Given the description of an element on the screen output the (x, y) to click on. 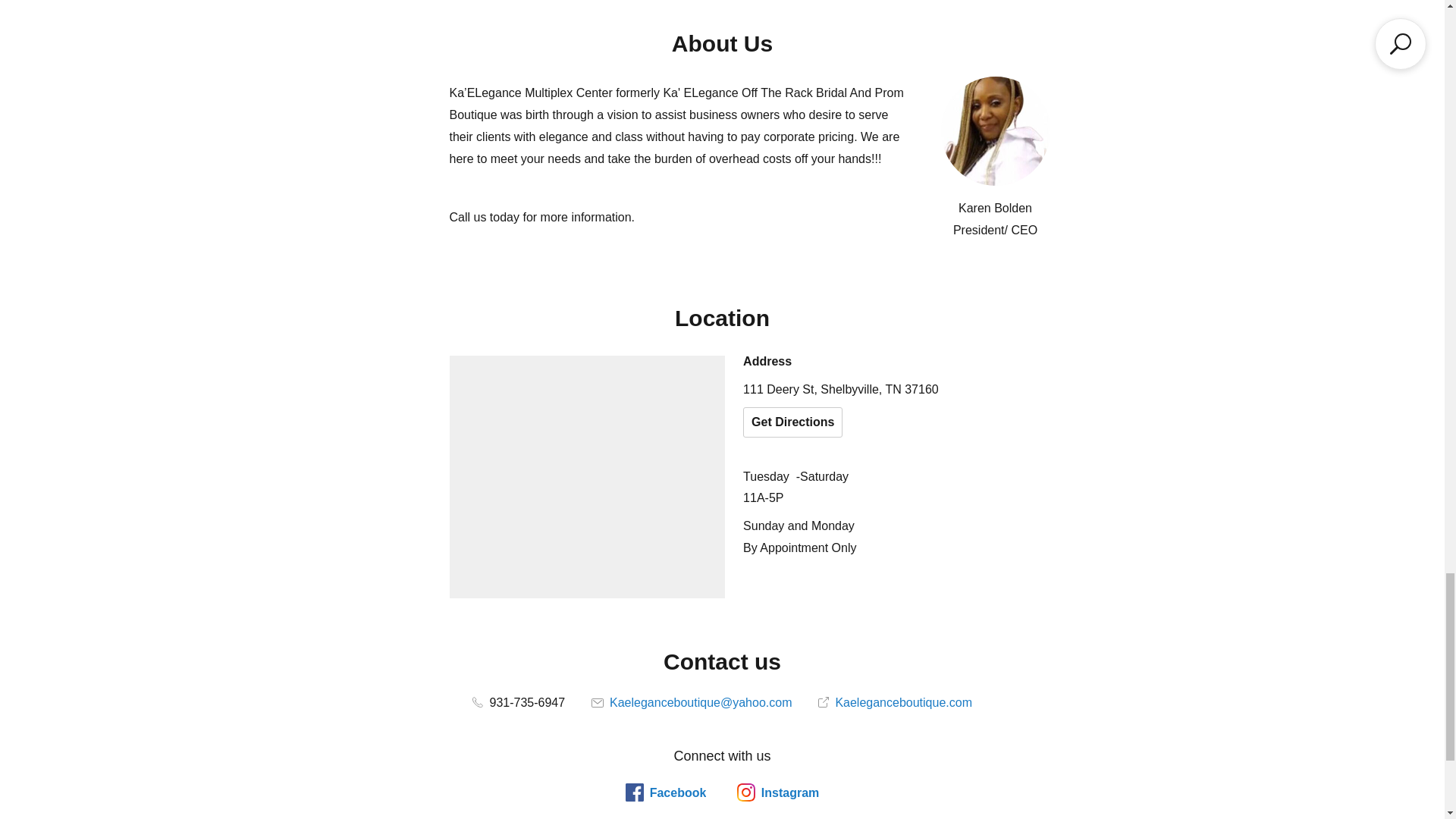
Location on map (586, 476)
